Given the description of an element on the screen output the (x, y) to click on. 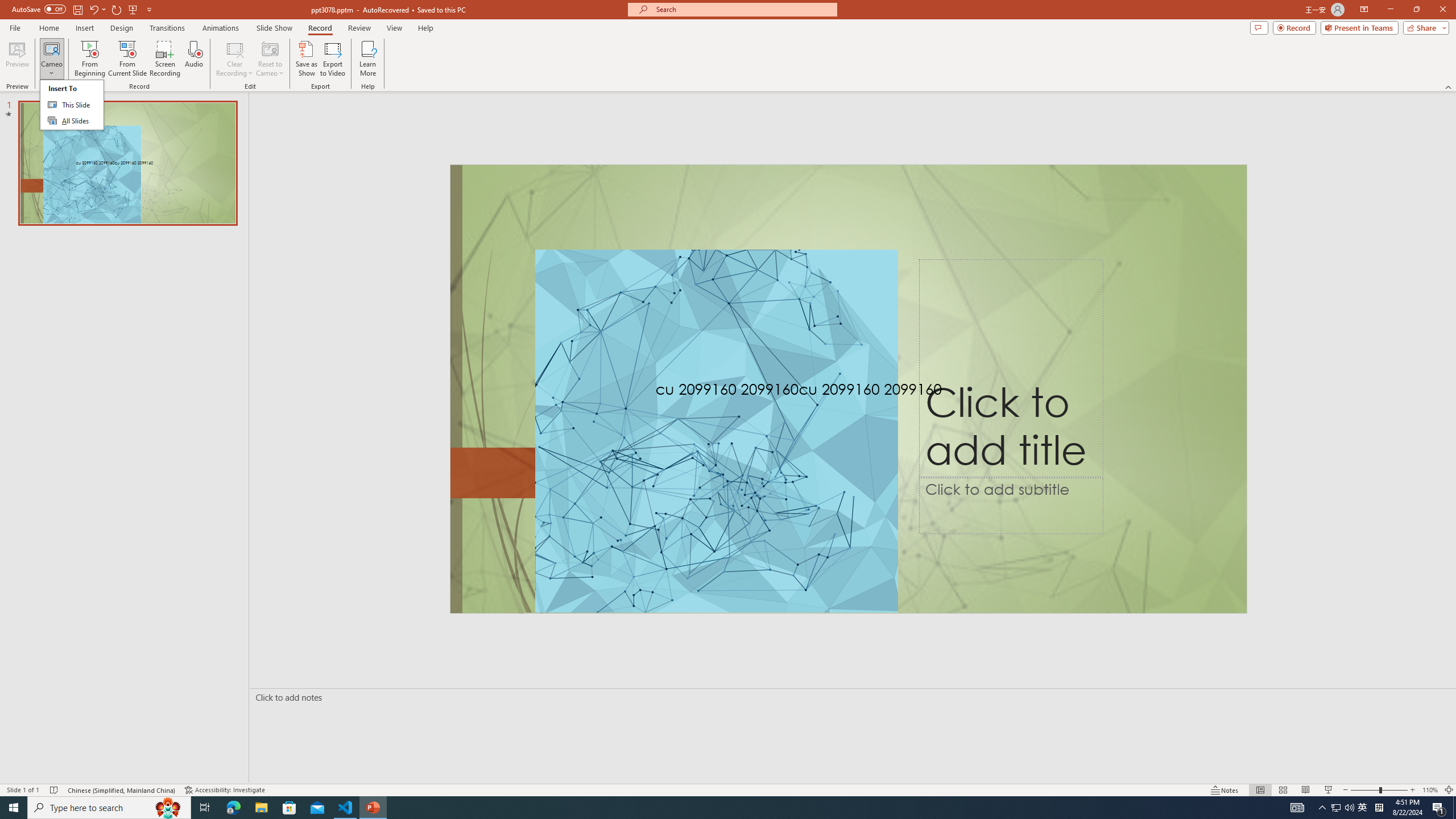
Home (48, 28)
Cameo (51, 58)
System (6, 6)
Insert (83, 28)
Quick Access Toolbar (82, 9)
Close (1442, 9)
Microsoft Edge (233, 807)
Type here to search (108, 807)
Slide Sorter (1282, 790)
Restore Down (1416, 9)
Present in Teams (1359, 27)
PowerPoint - 1 running window (373, 807)
Search highlights icon opens search home window (167, 807)
Preview (17, 58)
User Promoted Notification Area (1342, 807)
